Given the description of an element on the screen output the (x, y) to click on. 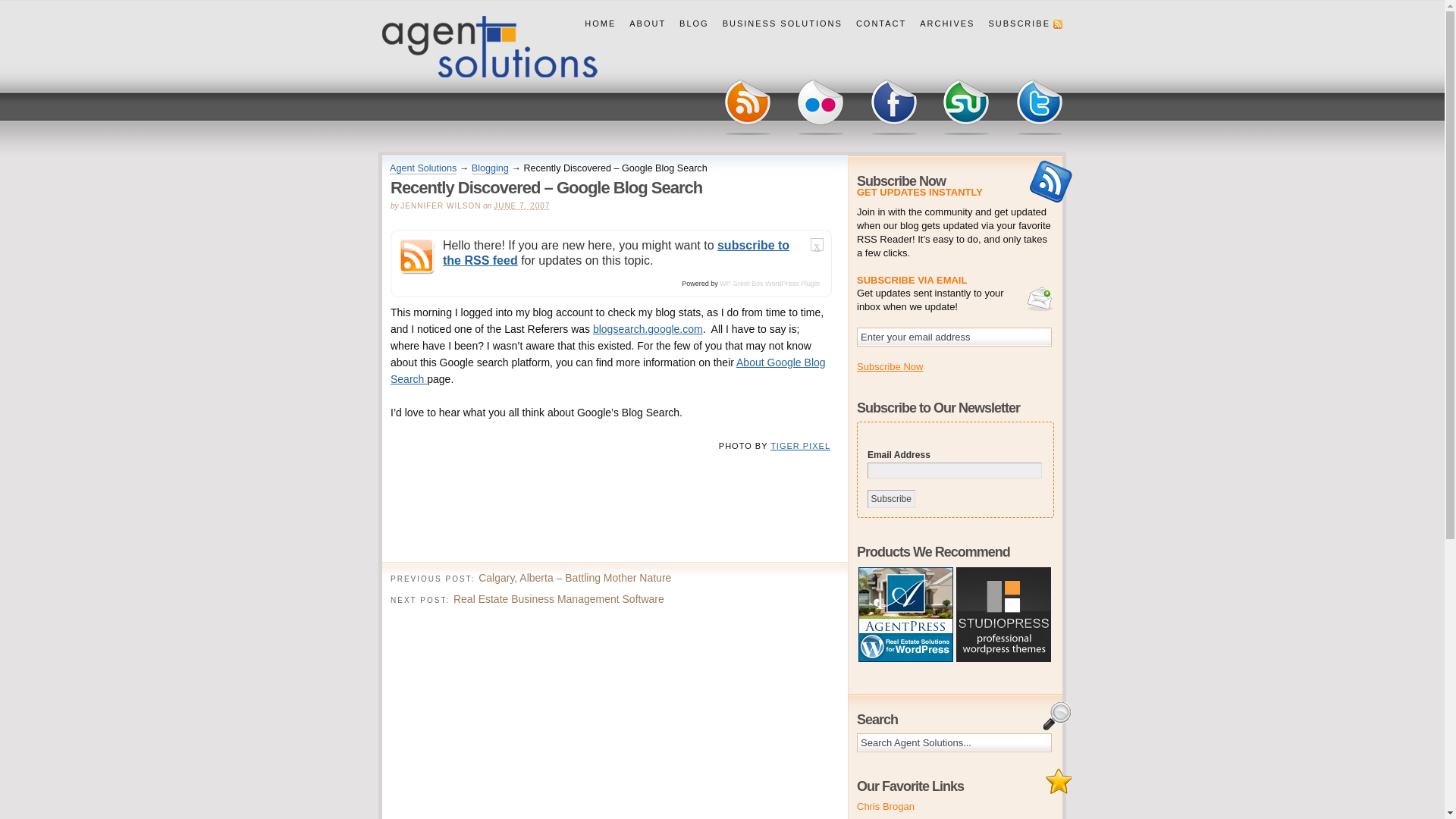
Jennifer Wilson on Twitter Element type: text (1039, 107)
Subscribe Via RSS Element type: text (747, 107)
HOME Element type: text (599, 23)
Agent Solutions Element type: text (422, 168)
ARCHIVES Element type: text (947, 23)
CONTACT Element type: text (881, 23)
subscribe to the RSS feed Element type: text (615, 252)
Jennifer Wilson on Flickr Element type: text (820, 107)
SUBSCRIBE Element type: text (1021, 23)
Chris Brogan Element type: text (885, 806)
blogsearch.google.com Element type: text (647, 329)
About Google Blog Search Element type: text (607, 370)
Subscribe Element type: text (891, 498)
Subscribe Now Element type: text (889, 366)
Blogging Element type: text (489, 168)
ABOUT Element type: text (647, 23)
TIGER PIXEL Element type: text (800, 445)
Jennifer Wilson on StumbleUpon Element type: text (966, 107)
Real Estate Business Management Software Element type: text (558, 599)
Jennifer Wilson on Facebook Element type: text (893, 107)
BLOG Element type: text (693, 23)
BUSINESS SOLUTIONS Element type: text (782, 23)
X Element type: text (816, 246)
Agent Solutions Element type: text (489, 45)
WordPress Plugin Element type: text (792, 283)
WP Greet Box Element type: text (740, 283)
